Given the description of an element on the screen output the (x, y) to click on. 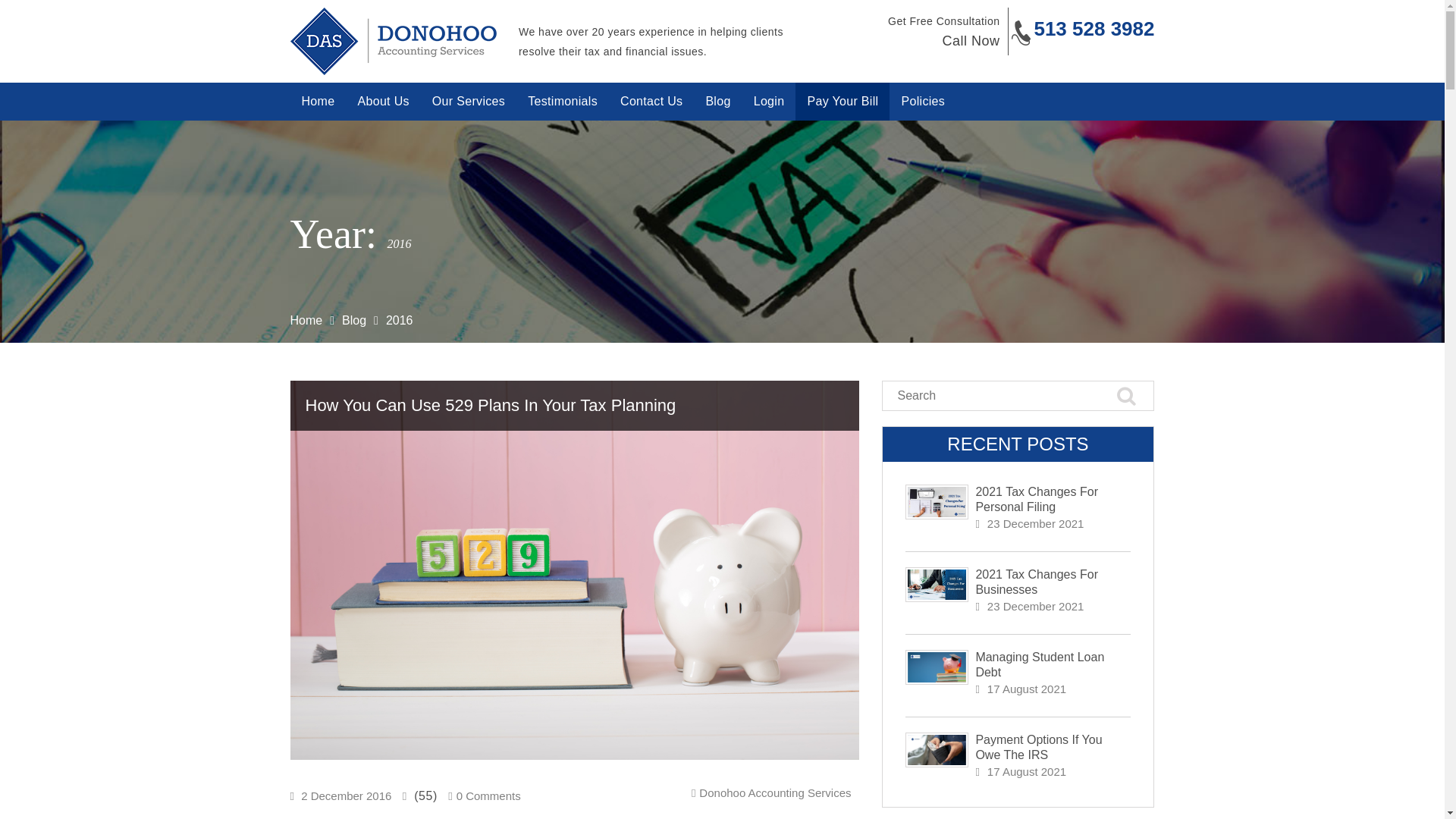
Home (305, 319)
Login (769, 101)
Policies (922, 101)
Home (317, 101)
Our Services (468, 101)
Contact Us (651, 101)
Donohoo Accounting Services (774, 792)
About Us (383, 101)
Blog (717, 101)
513 528 3982 (1093, 28)
Contact Us (651, 101)
Logo (392, 41)
Home (317, 101)
About Us (383, 101)
Blog (717, 101)
